Given the description of an element on the screen output the (x, y) to click on. 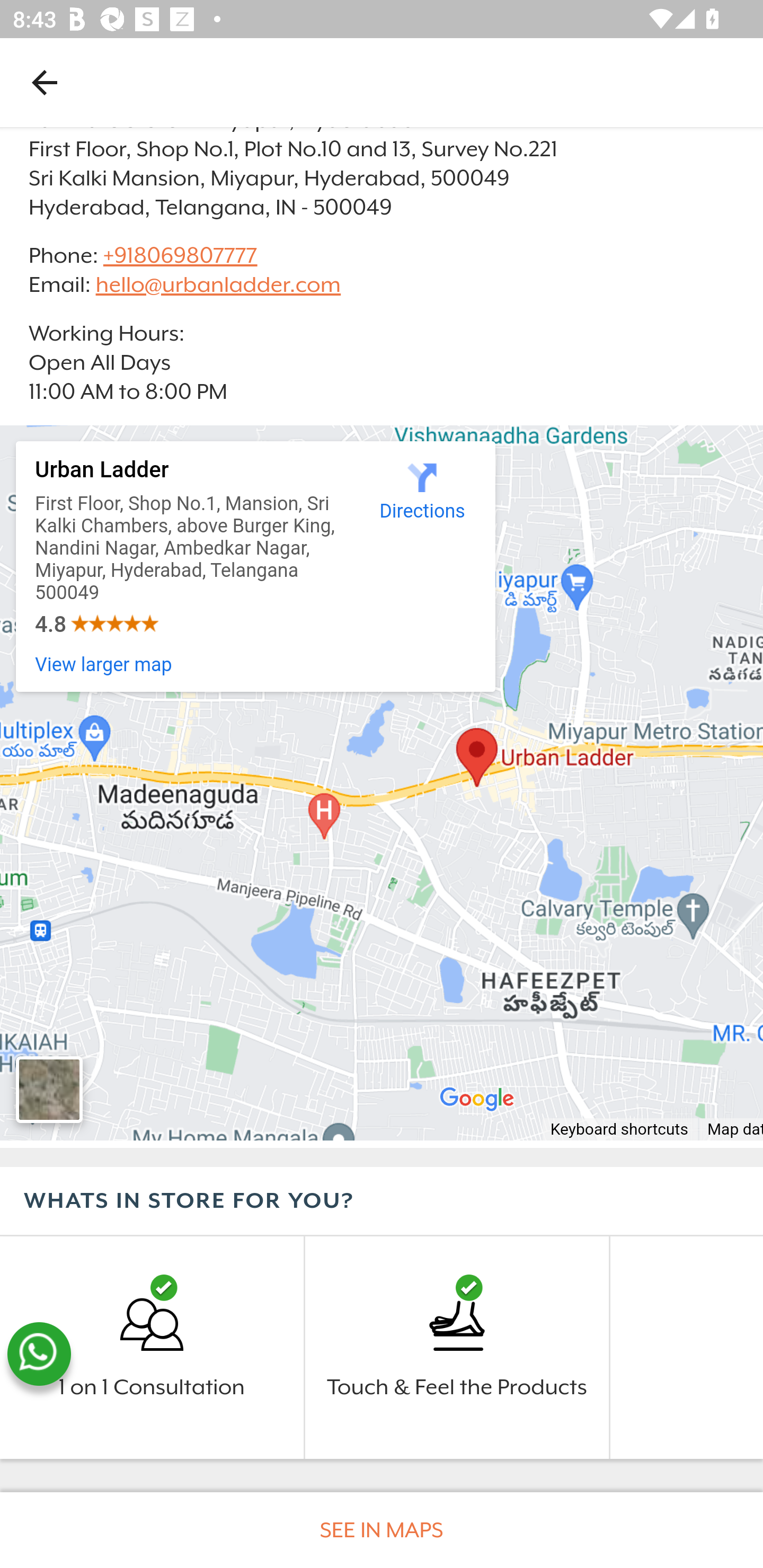
Navigate up (44, 82)
+918069807777 (179, 254)
hello@urbanladder.com (218, 285)
Keyboard shortcuts (381, 782)
View larger map (104, 665)
Show satellite imagery (49, 1090)
Keyboard shortcuts (619, 1131)
whatsapp (38, 1353)
SEE IN MAPS (381, 1530)
